Given the description of an element on the screen output the (x, y) to click on. 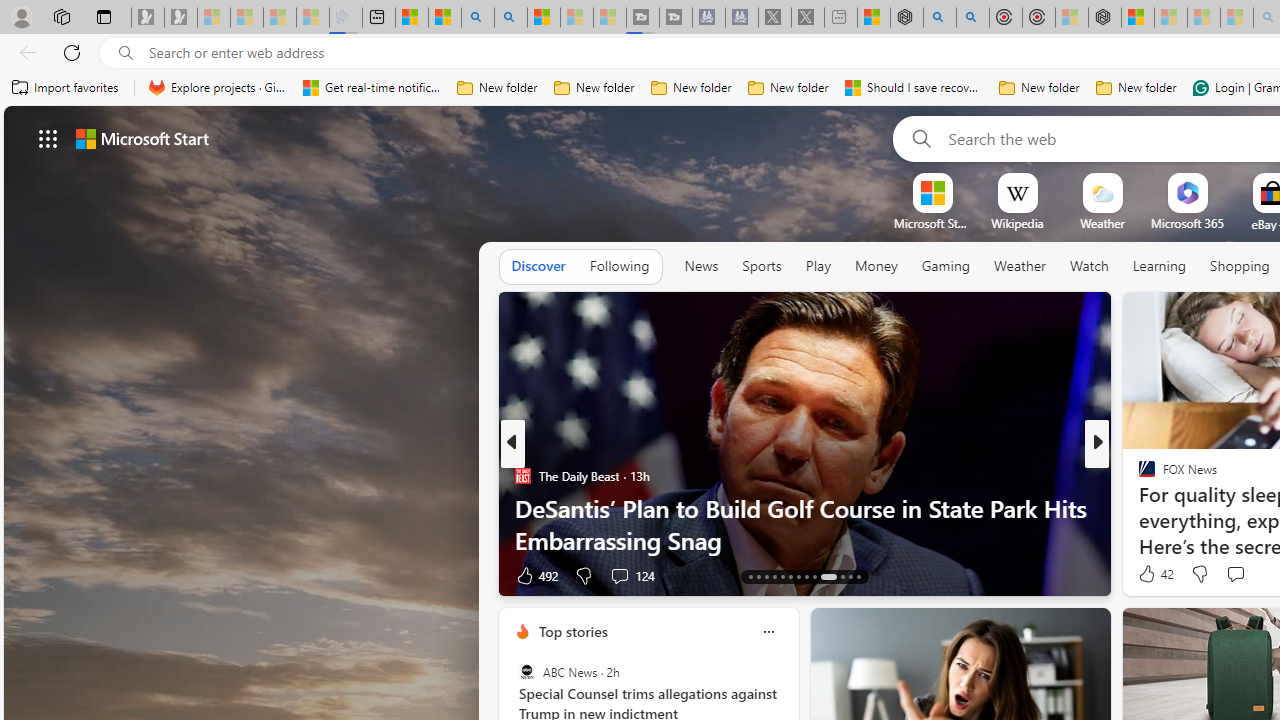
Microsoft 365 (1186, 223)
Learning (1159, 265)
View comments 3 Comment (11, 575)
Work + Money (1138, 507)
79 Like (1149, 574)
Class: icon-img (768, 632)
News (701, 267)
AutomationID: tab-14 (757, 576)
